Given the description of an element on the screen output the (x, y) to click on. 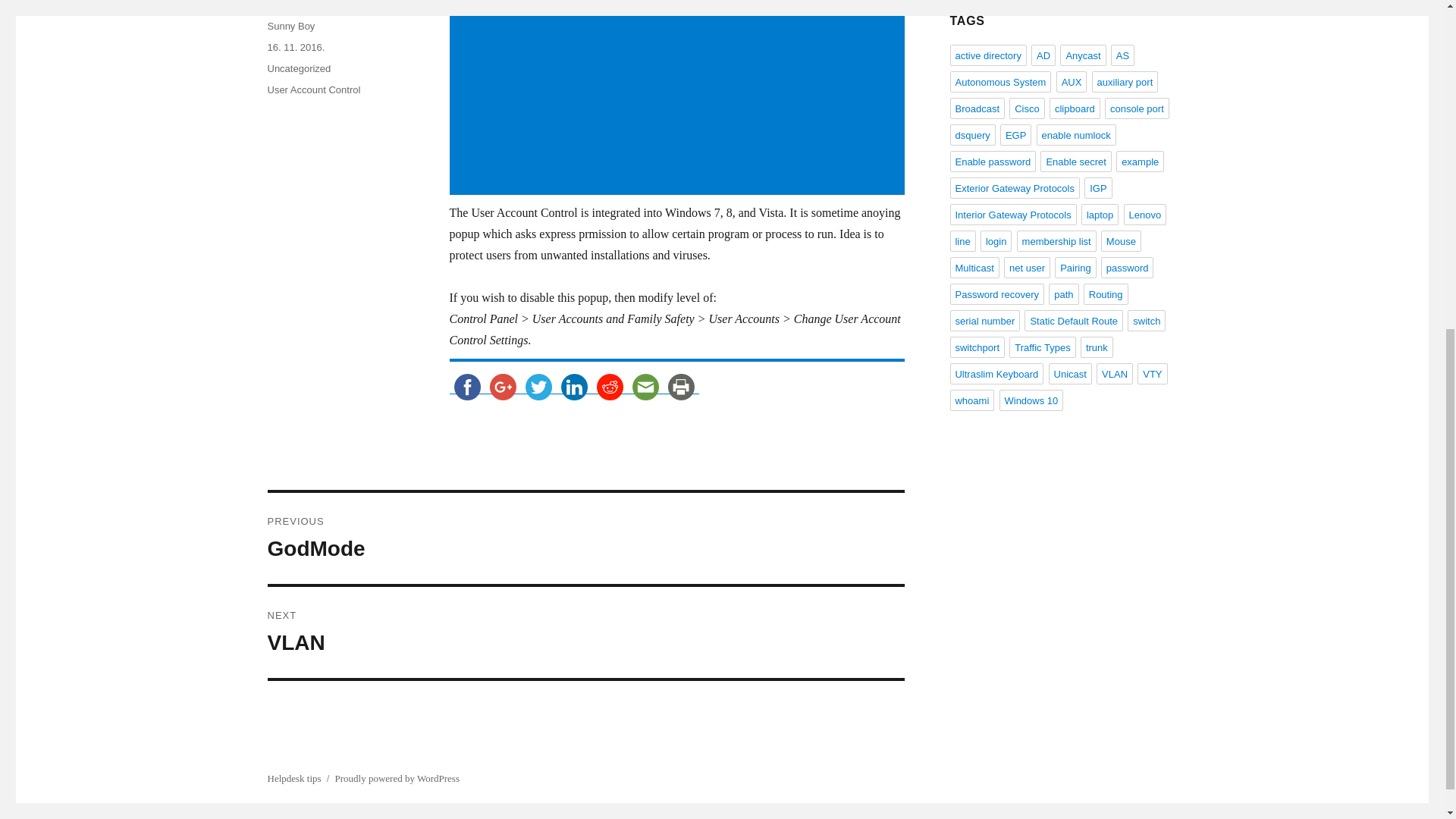
clipboard (1074, 107)
AS (1122, 55)
AUX (1072, 81)
AD (1042, 55)
google (502, 386)
Uncategorized (298, 68)
Advertisement (679, 98)
email (645, 386)
16. 11. 2016. (295, 47)
twitter (537, 386)
